Given the description of an element on the screen output the (x, y) to click on. 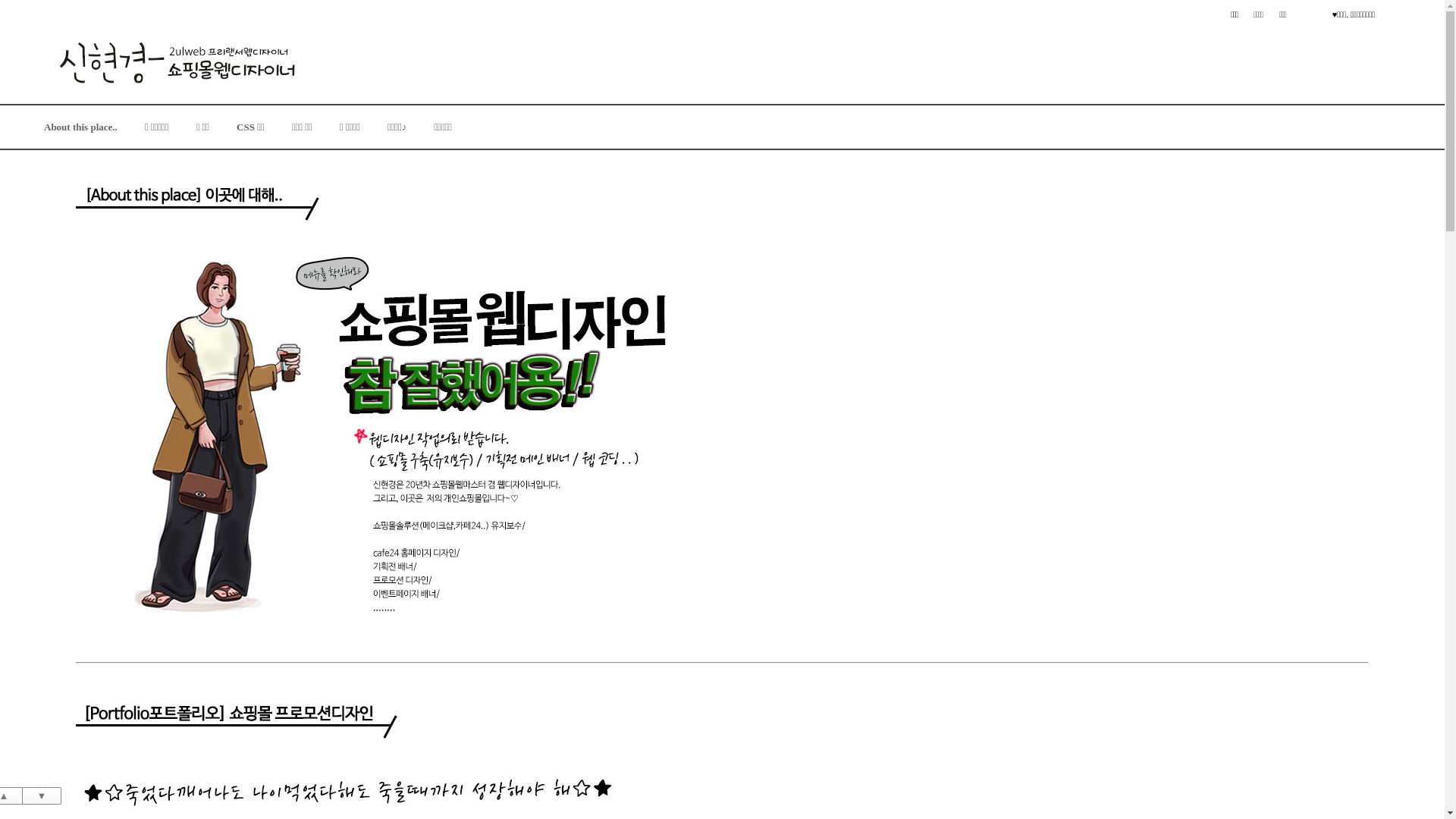
About this place.. Element type: text (80, 126)
